Given the description of an element on the screen output the (x, y) to click on. 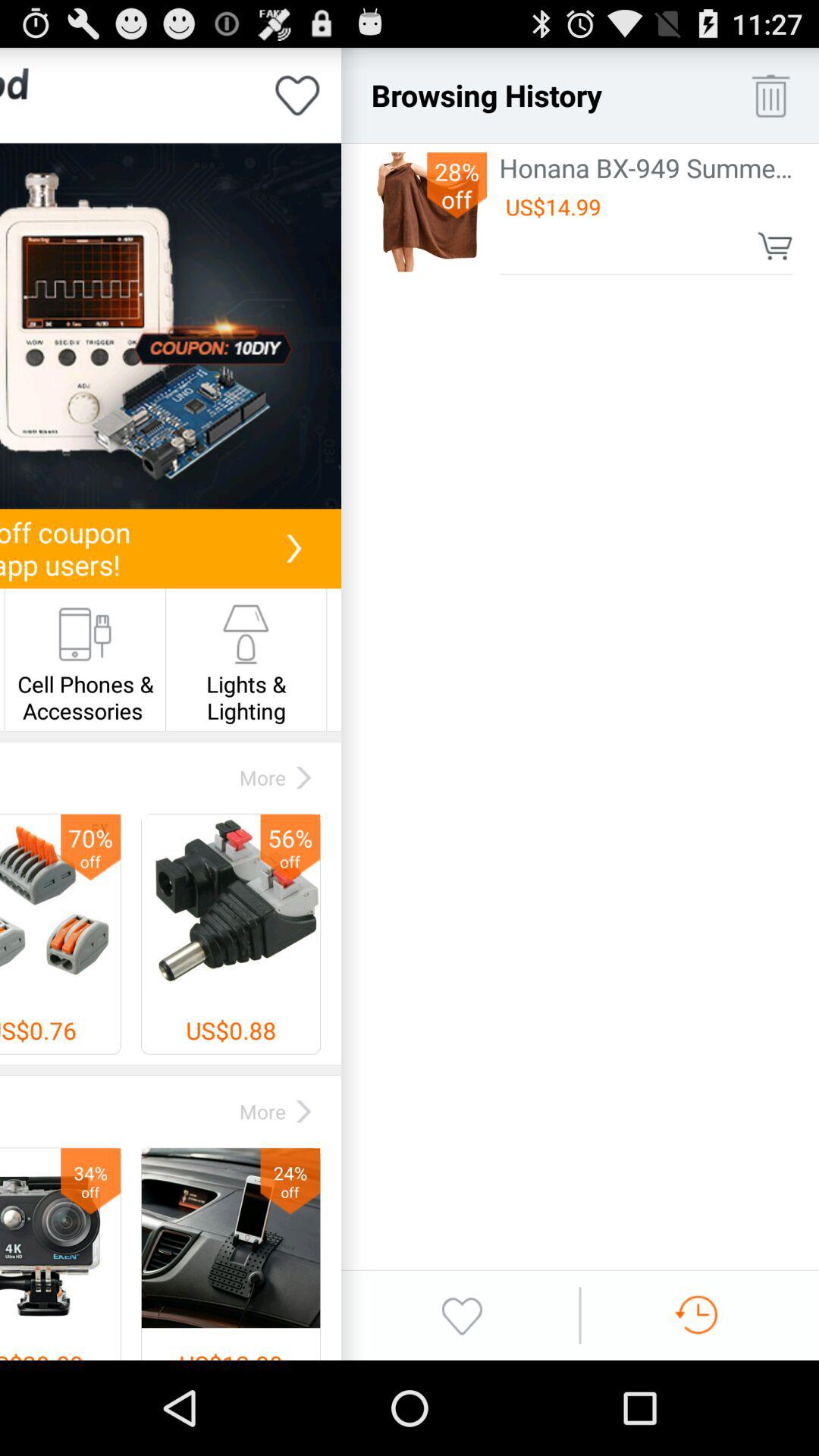
your cart button (774, 245)
